Given the description of an element on the screen output the (x, y) to click on. 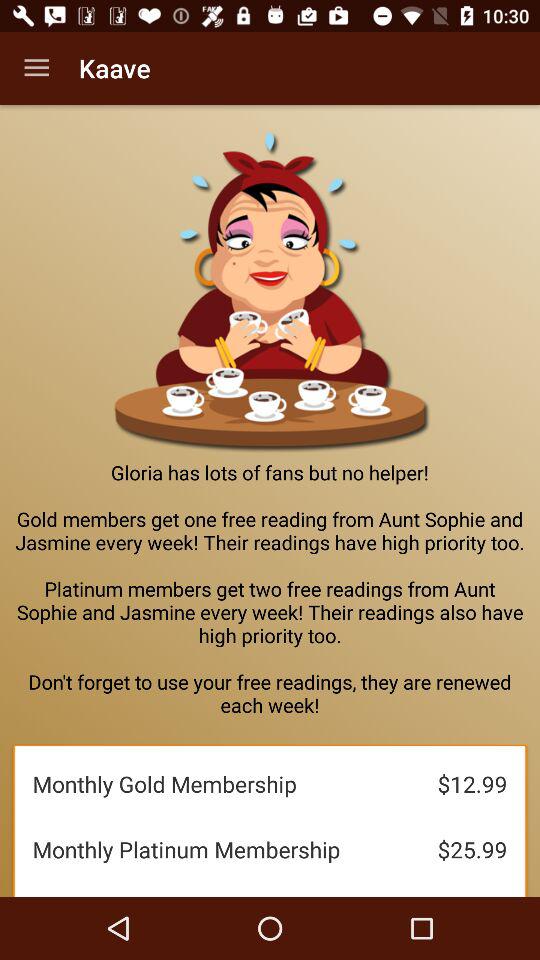
select the icon to the left of the kaave item (36, 68)
